Given the description of an element on the screen output the (x, y) to click on. 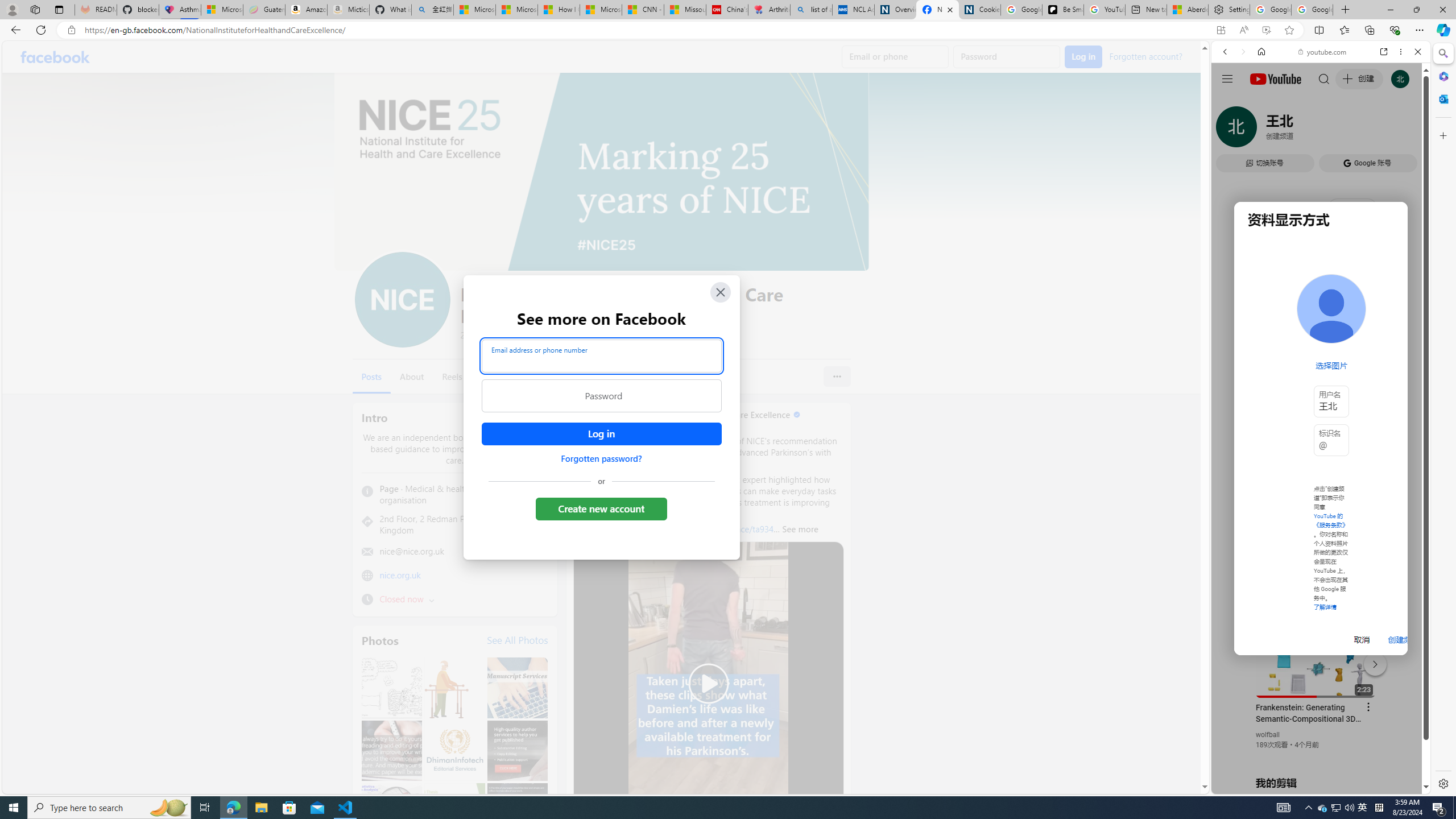
Trailer #2 [HD] (1320, 336)
US[ju] (1249, 785)
wolfball (1268, 734)
Show More Music (1390, 310)
Accessible login button (601, 433)
